Given the description of an element on the screen output the (x, y) to click on. 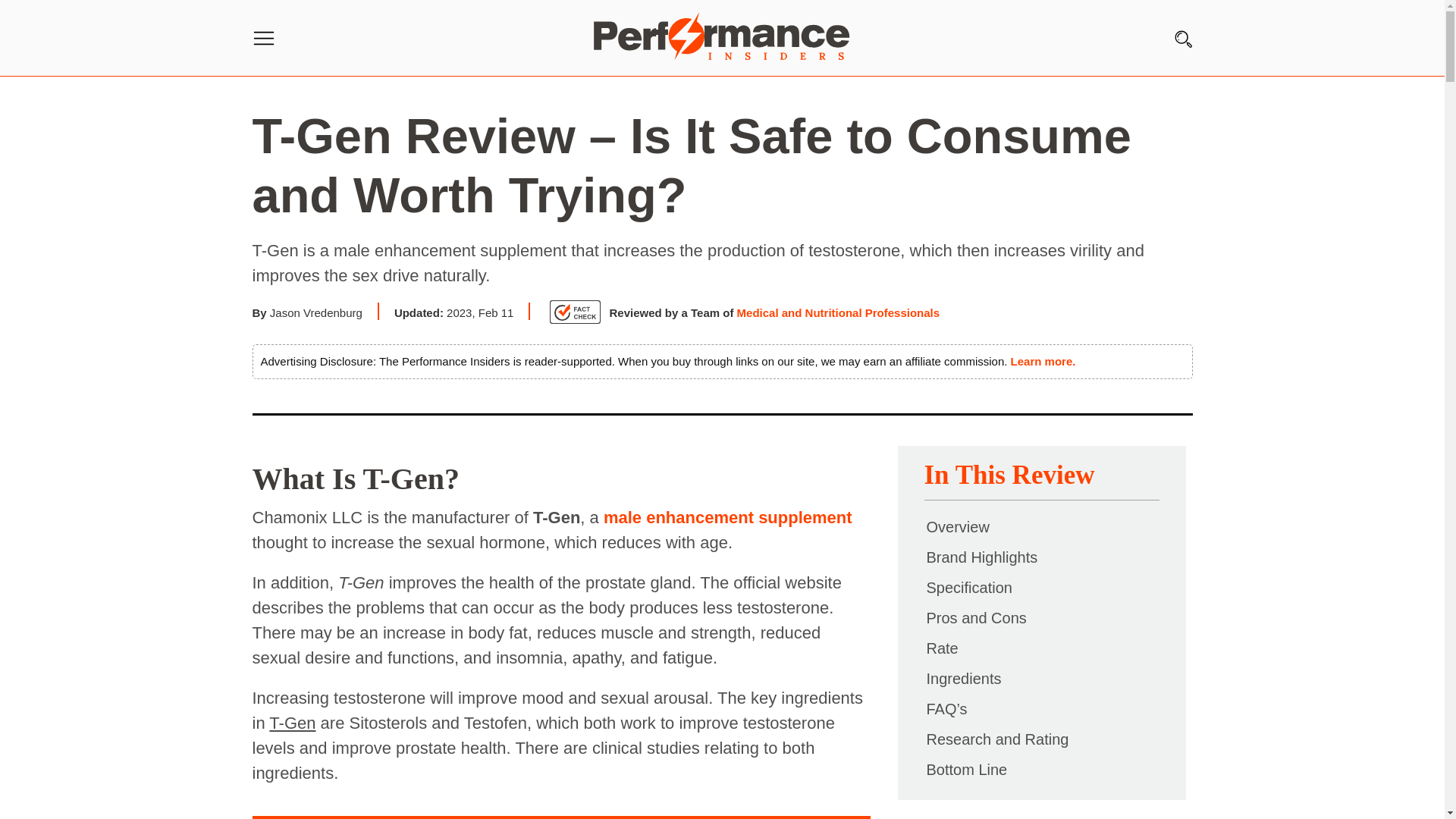
Learn more. (1042, 360)
Medical and Nutritional Professionals (838, 312)
Brand Highlights (981, 557)
Ingredients (962, 678)
Overview (956, 526)
Rate (940, 648)
Pros and Cons (975, 617)
Specification (967, 587)
Search (22, 27)
Research and Rating (996, 739)
